Given the description of an element on the screen output the (x, y) to click on. 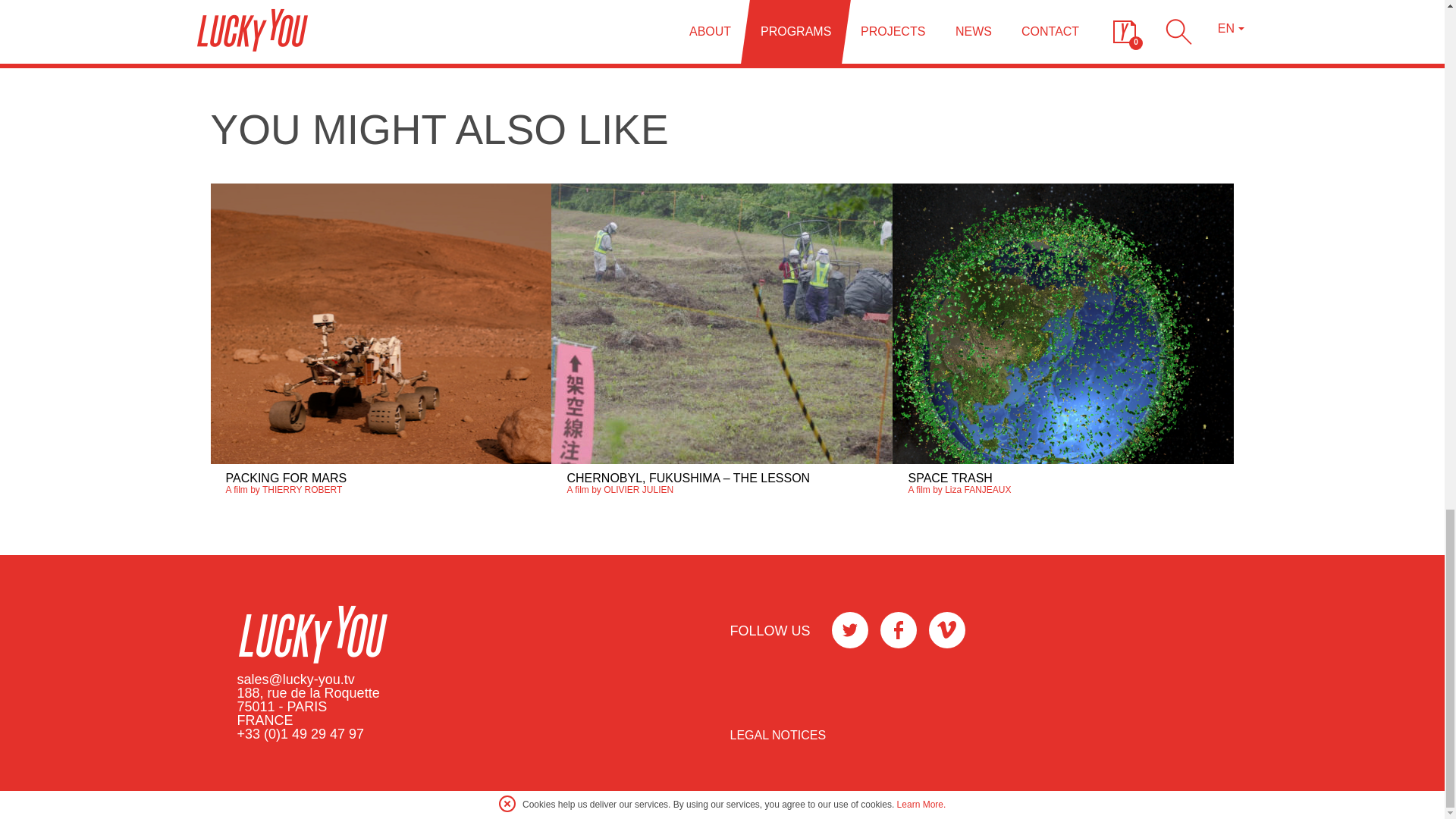
PACKING FOR MARS (286, 477)
SPACE TRASH (949, 477)
